Given the description of an element on the screen output the (x, y) to click on. 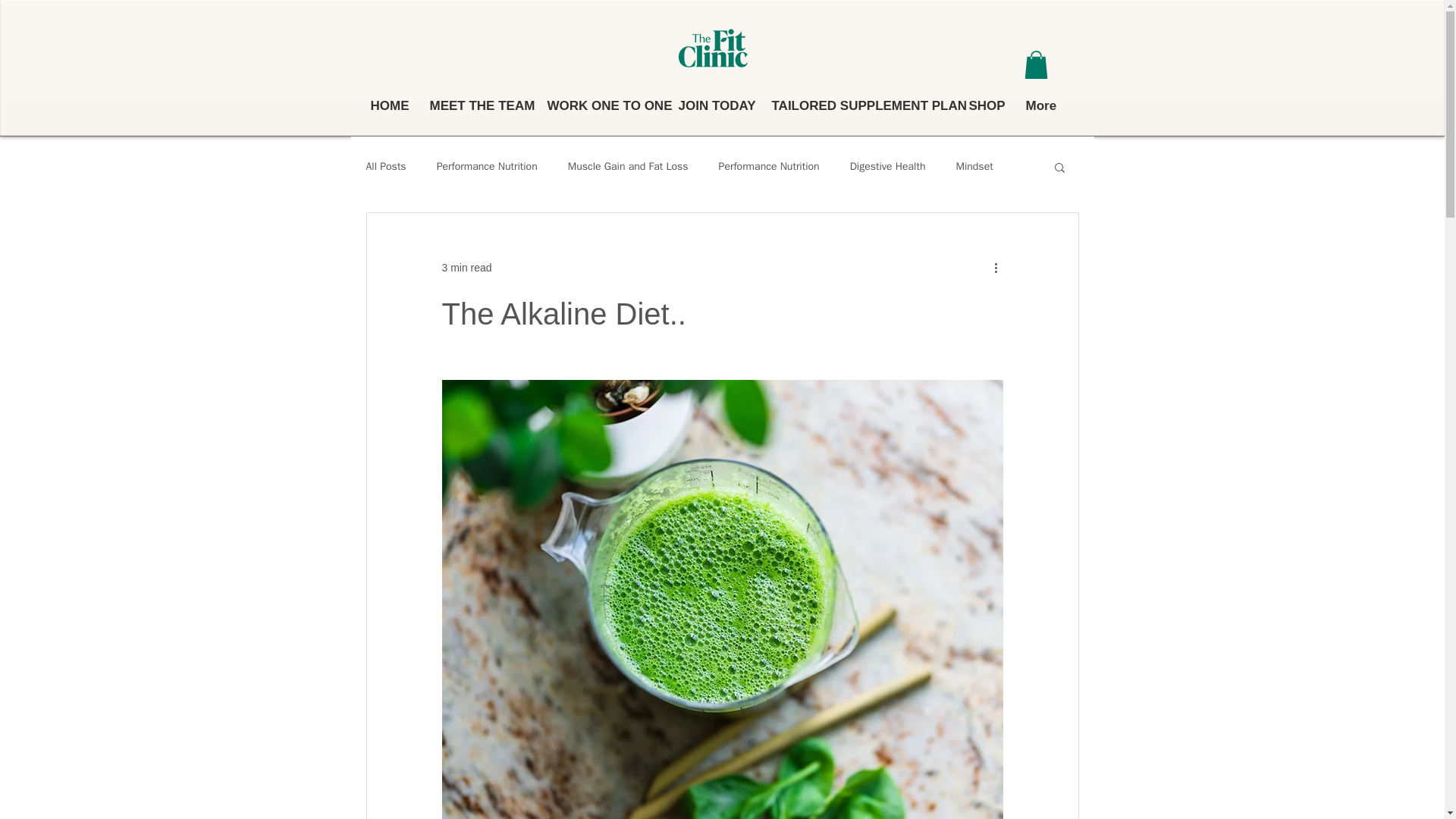
All Posts (385, 166)
Performance Nutrition (769, 166)
MEET THE TEAM (477, 105)
WORK ONE TO ONE (600, 105)
Mindset (973, 166)
Performance Nutrition (486, 166)
SHOP (984, 105)
Muscle Gain and Fat Loss (627, 166)
3 min read (466, 267)
HOME (388, 105)
TAILORED SUPPLEMENT PLAN (858, 105)
JOIN TODAY (713, 105)
Digestive Health (888, 166)
